Given the description of an element on the screen output the (x, y) to click on. 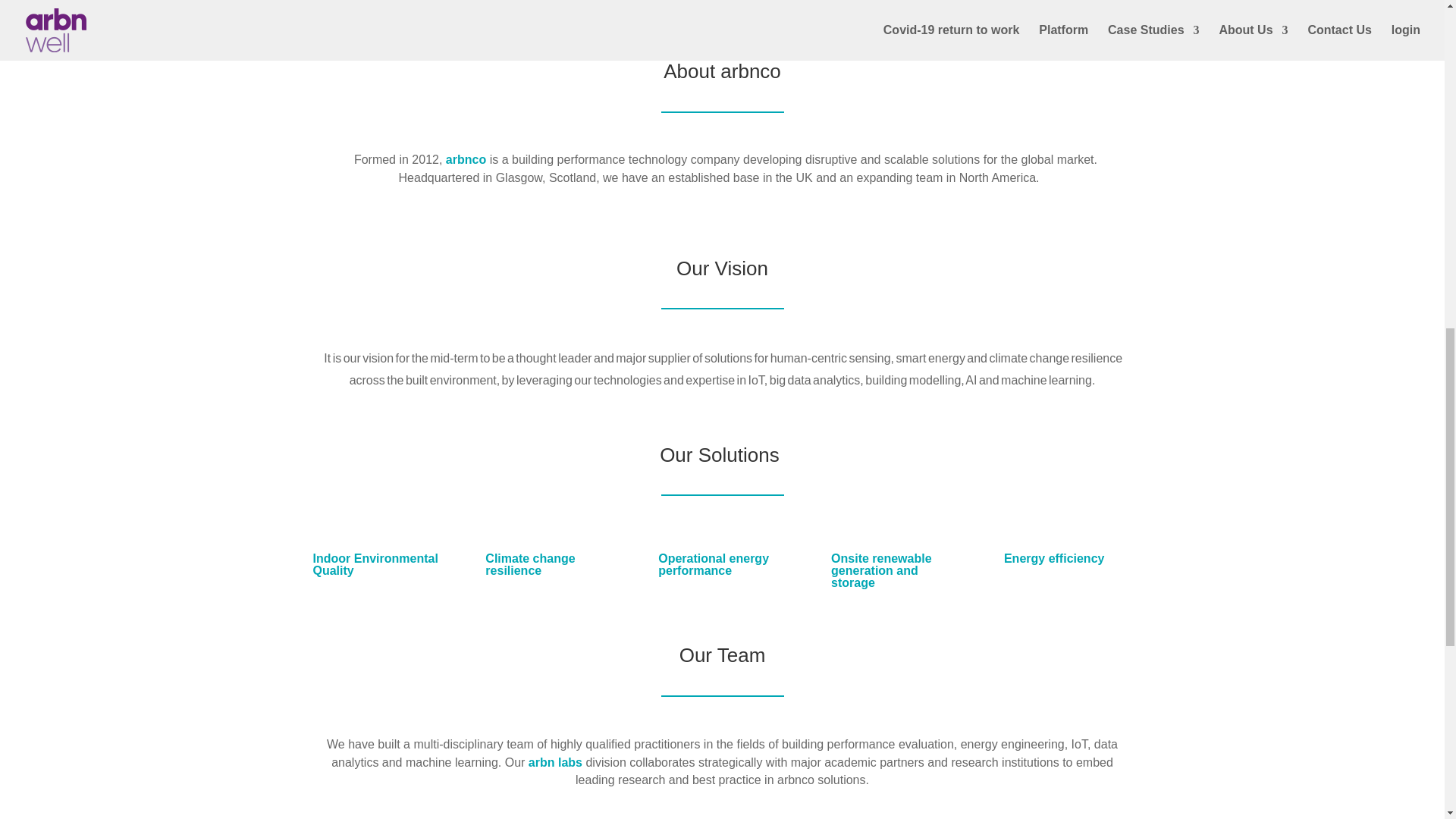
arbnco (465, 159)
Indoor Environmental Quality (375, 564)
Climate change resilience  (529, 564)
arbn labs (555, 762)
Onsite renewable generation and storage (881, 570)
Operational energy performance (713, 564)
Energy efficiency (1054, 558)
